Given the description of an element on the screen output the (x, y) to click on. 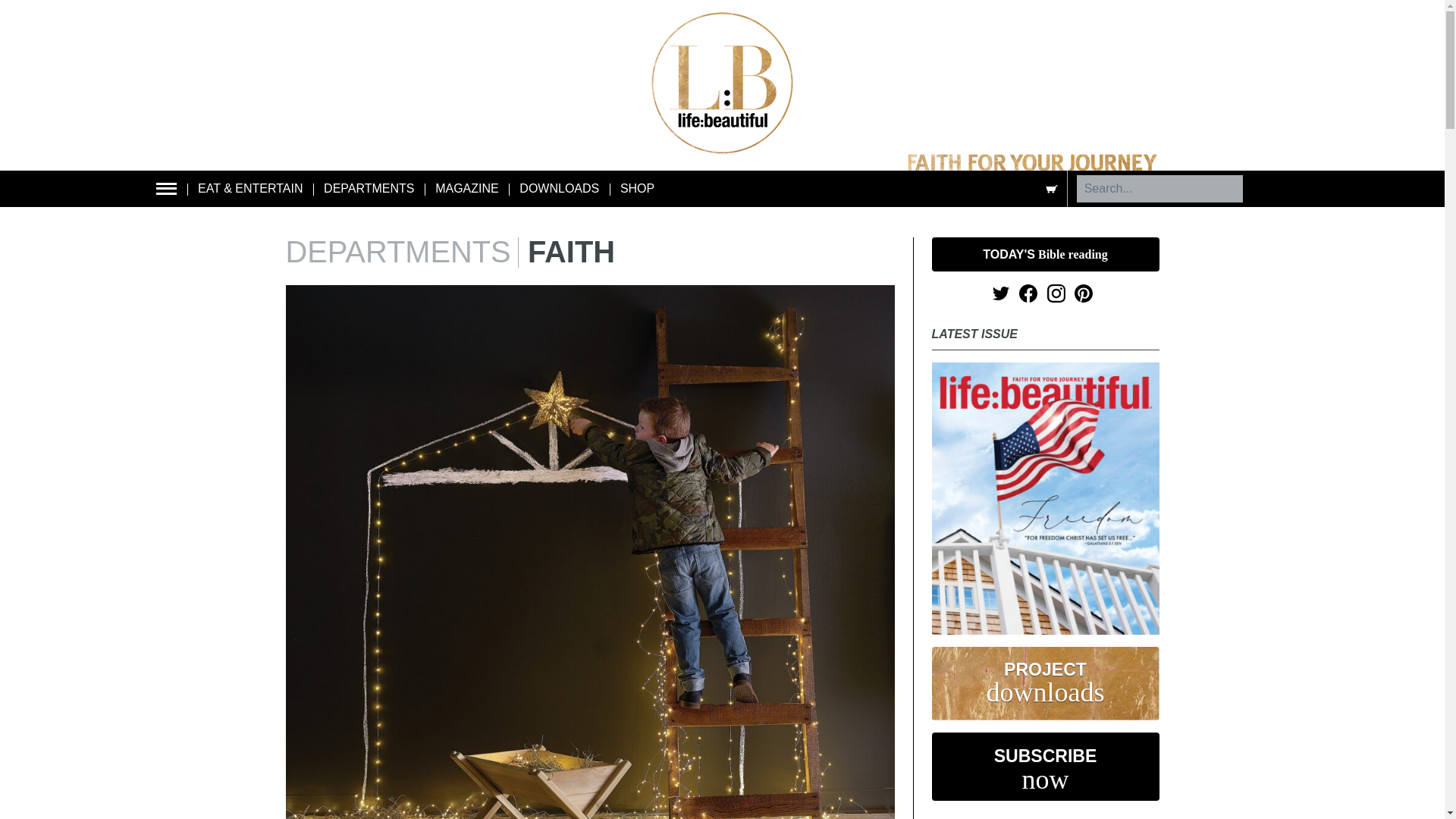
MENU (166, 189)
SEARCH (1269, 188)
MAGAZINE (467, 188)
DEPARTMENTS (368, 188)
SHOP (636, 188)
DOWNLOADS (558, 188)
